Given the description of an element on the screen output the (x, y) to click on. 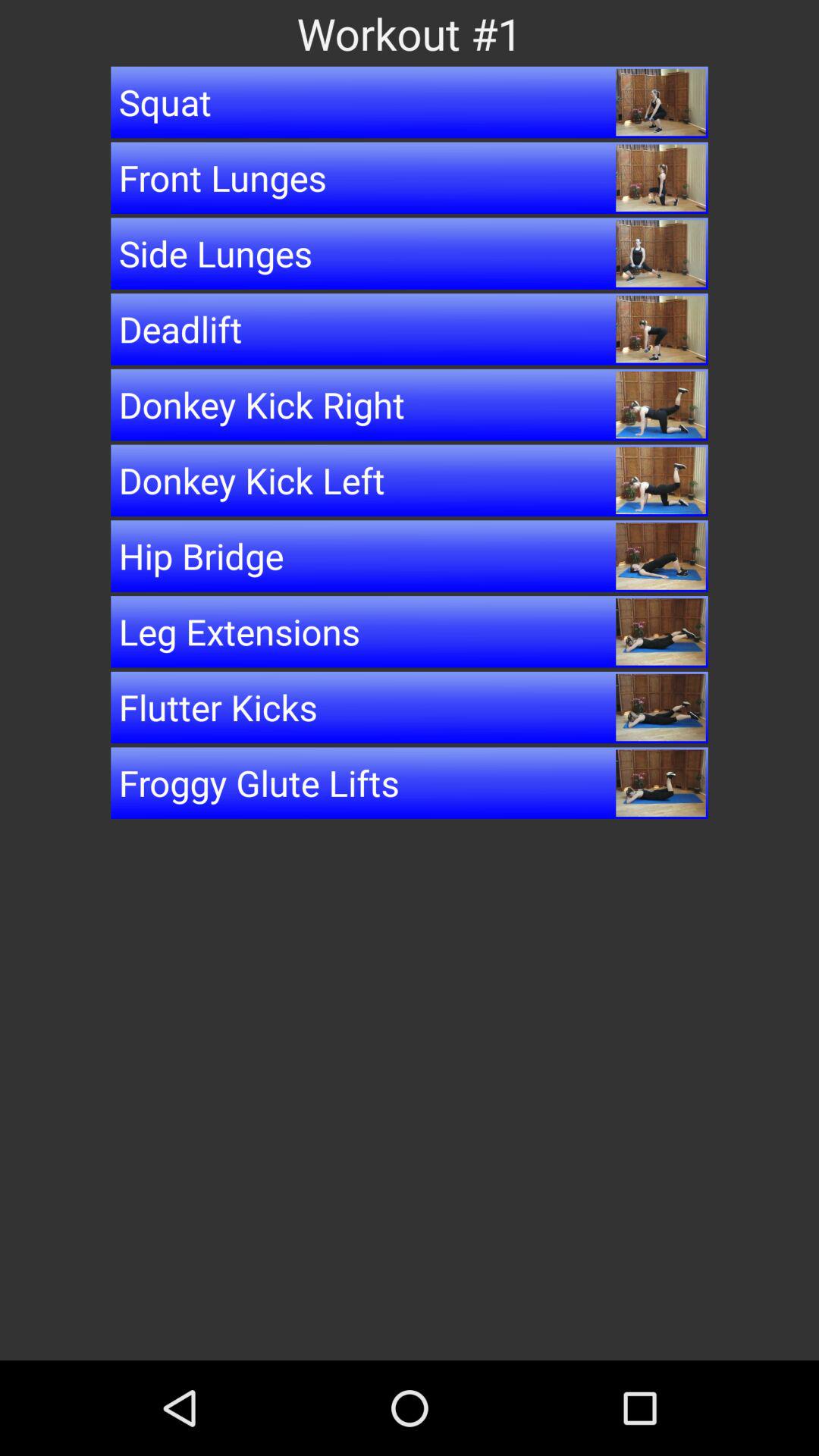
swipe to the leg extensions item (409, 631)
